Given the description of an element on the screen output the (x, y) to click on. 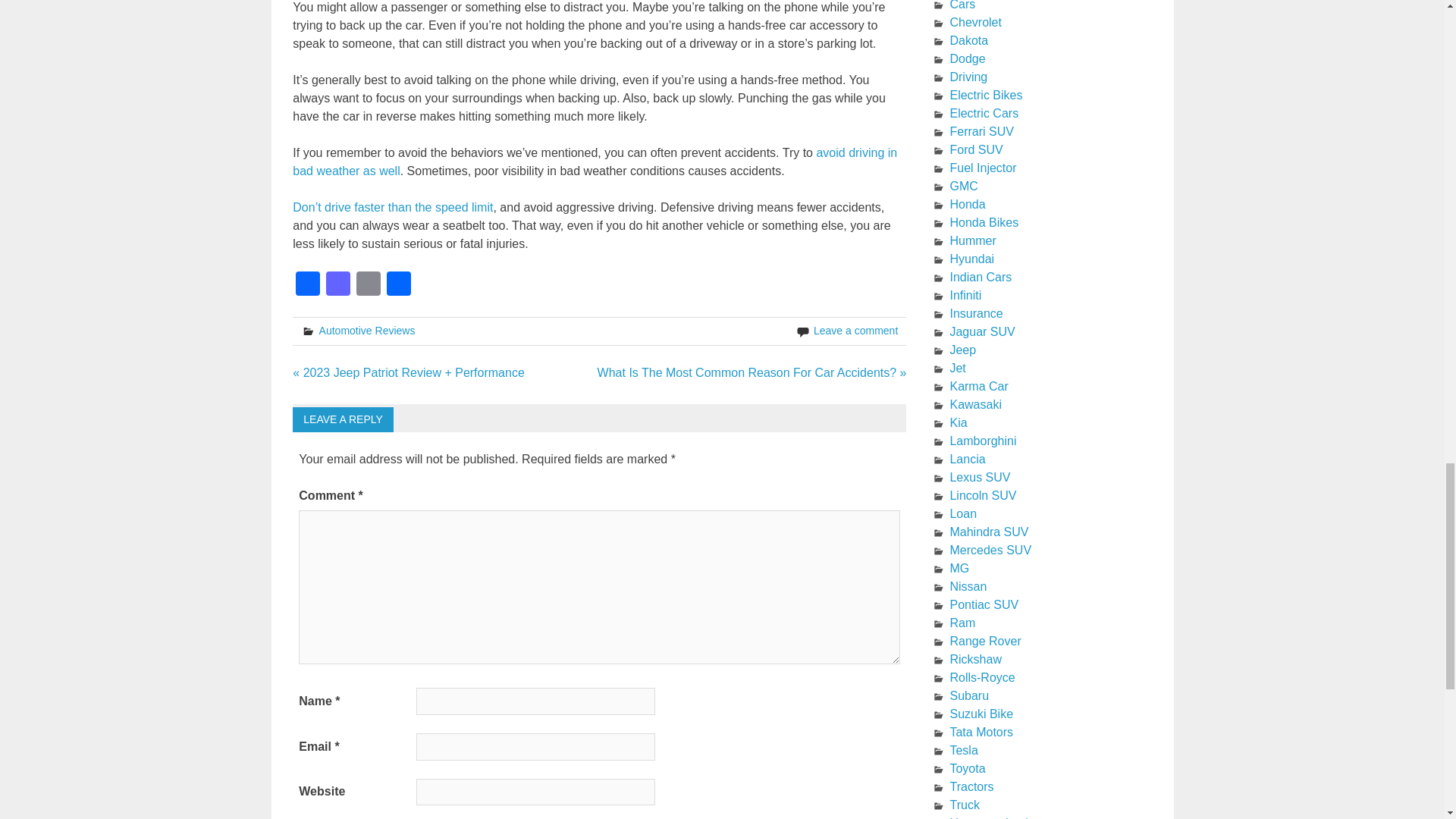
Leave a comment (855, 330)
Facebook (307, 285)
Facebook (307, 285)
Email (368, 285)
Mastodon (338, 285)
 avoid driving in bad weather as well (594, 161)
Share (398, 285)
Email (368, 285)
Mastodon (338, 285)
Automotive Reviews (366, 330)
